Given the description of an element on the screen output the (x, y) to click on. 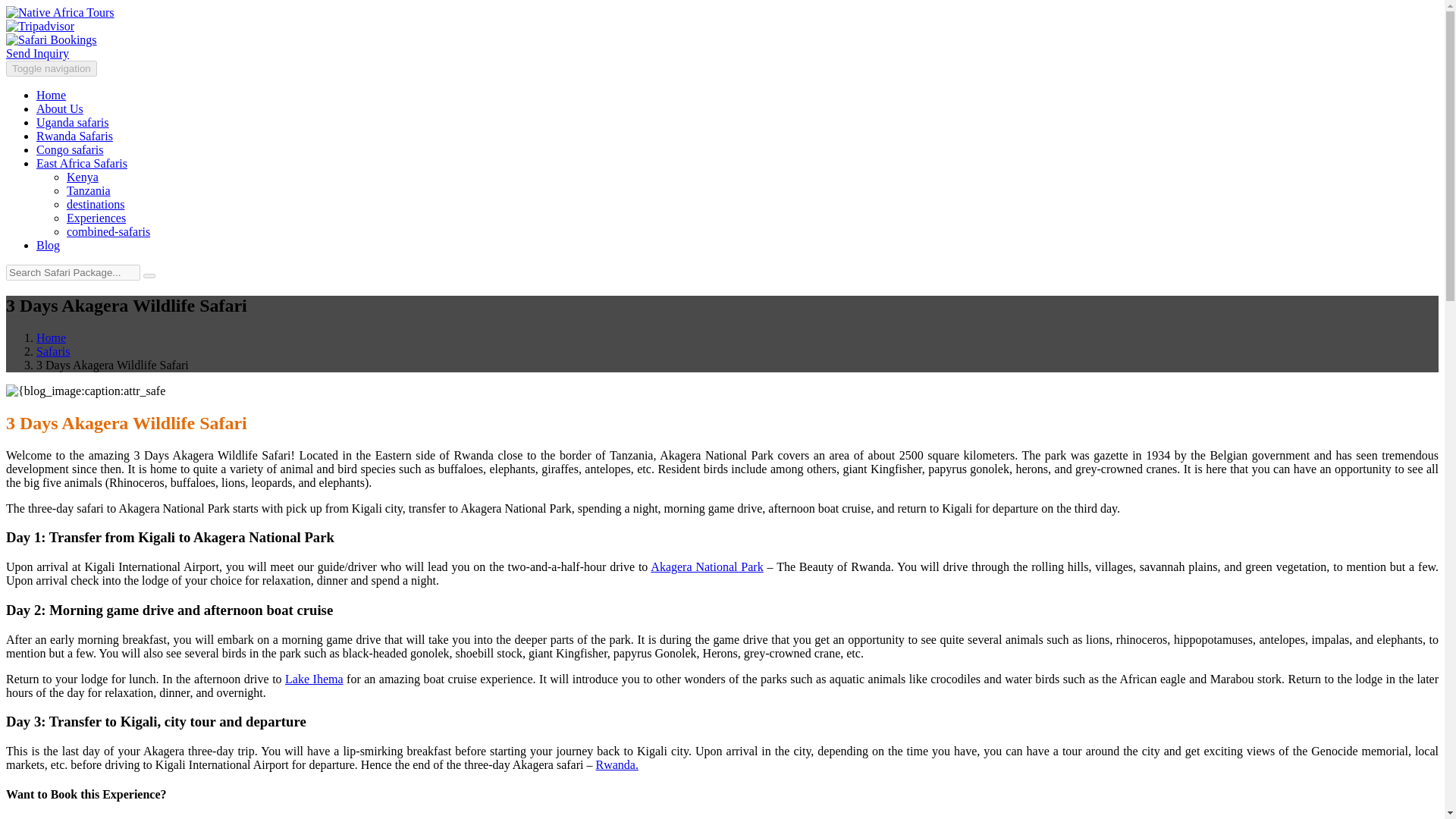
Home (50, 337)
Rwanda Safaris (74, 135)
Blog (47, 245)
Tanzania (88, 190)
Toggle navigation (51, 68)
East Africa Safaris (82, 163)
Congo safaris (69, 149)
Home (50, 94)
Kenya (82, 176)
Uganda safaris (72, 122)
Lake Ihema (313, 677)
destinations (94, 204)
submit (148, 275)
Rwanda. (616, 764)
Safaris (52, 350)
